Given the description of an element on the screen output the (x, y) to click on. 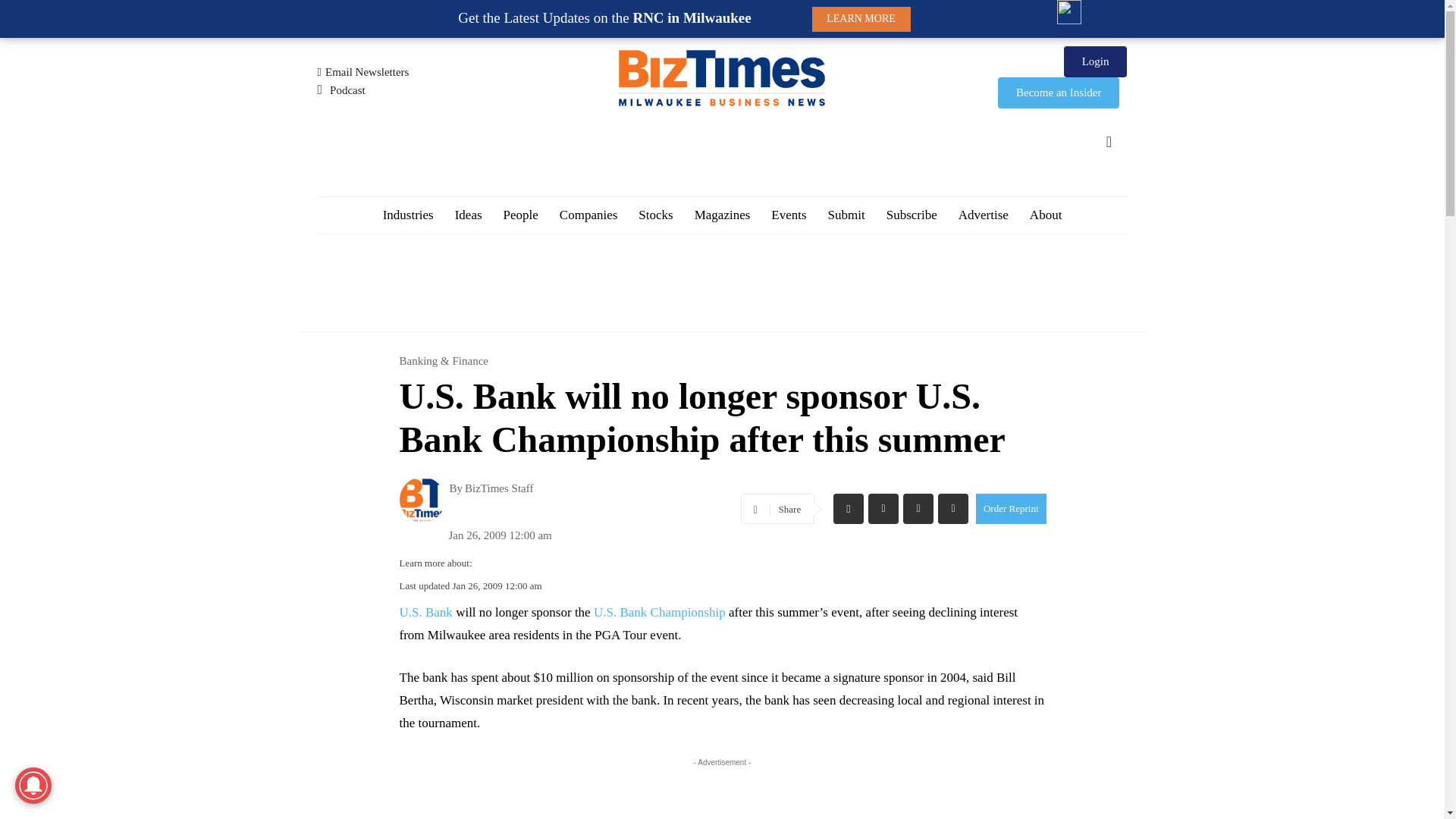
Become an Insider (1058, 92)
Login (1095, 60)
